Given the description of an element on the screen output the (x, y) to click on. 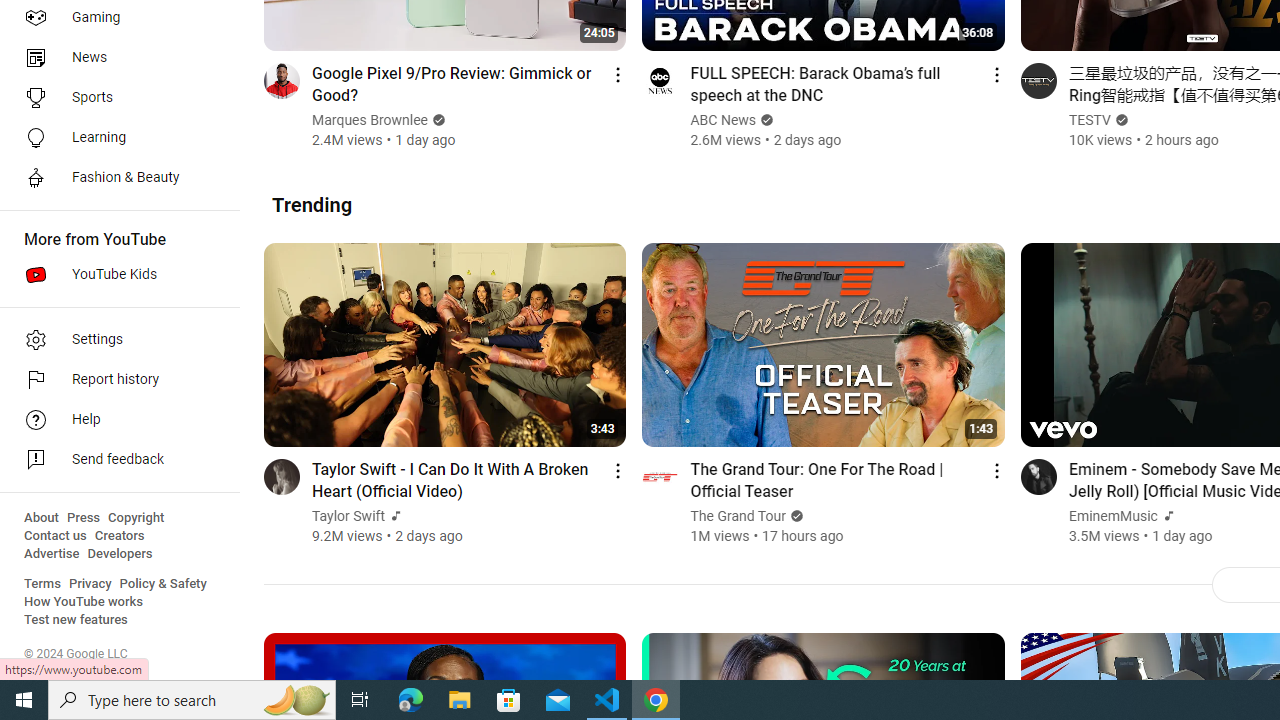
News (113, 57)
Contact us (55, 536)
Marques Brownlee (371, 120)
Report history (113, 380)
Creators (118, 536)
Learning (113, 137)
Policy & Safety (163, 584)
ABC News (723, 120)
Taylor Swift (349, 516)
How YouTube works (83, 602)
Sports (113, 97)
TESTV (1090, 120)
